Given the description of an element on the screen output the (x, y) to click on. 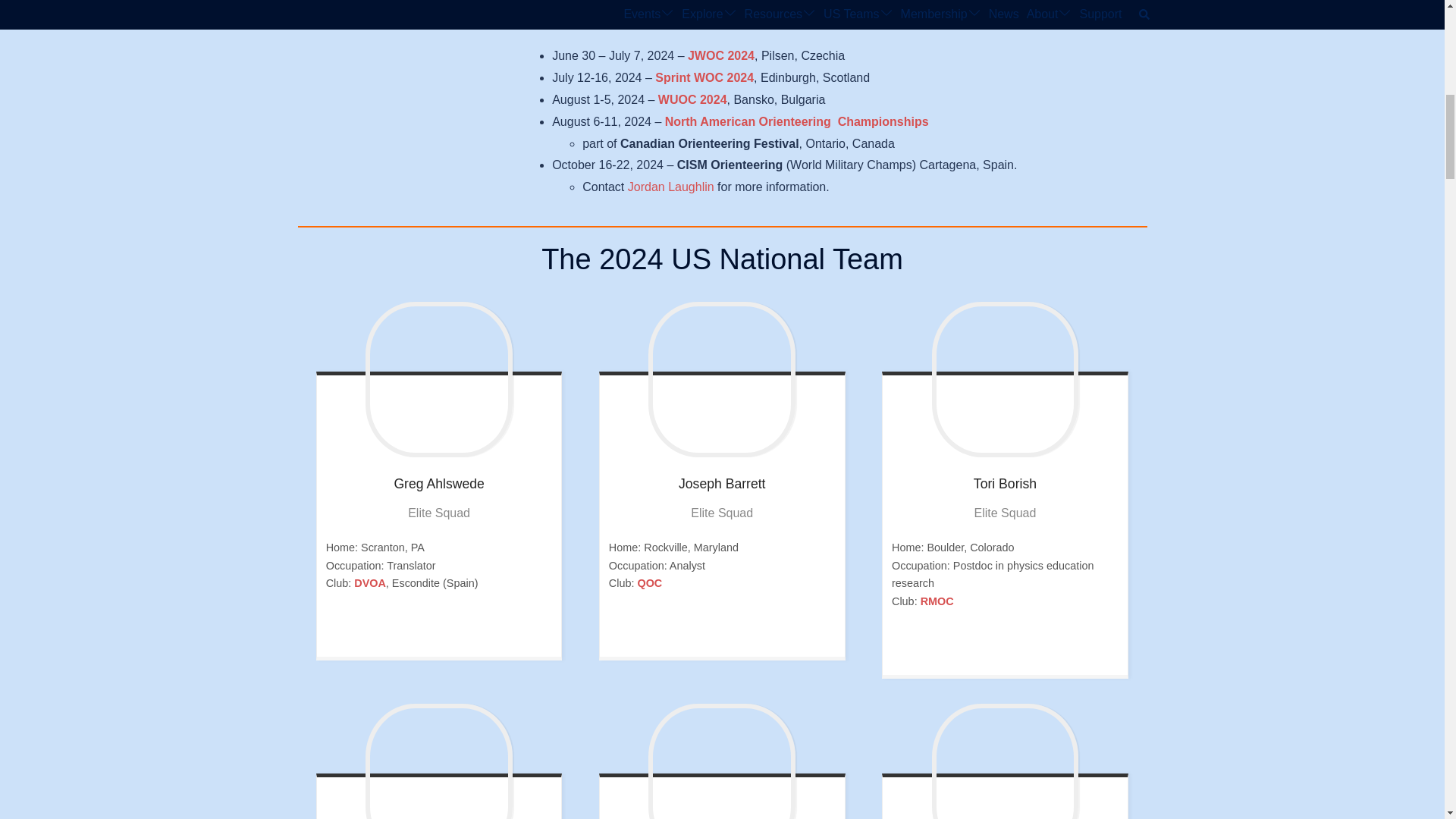
Attackpoint (991, 649)
Eventor World Ranking (451, 631)
Attackpoint (709, 631)
Eventor World Ranking (733, 631)
Eventor World Ranking (1016, 649)
Attackpoint (426, 631)
